Given the description of an element on the screen output the (x, y) to click on. 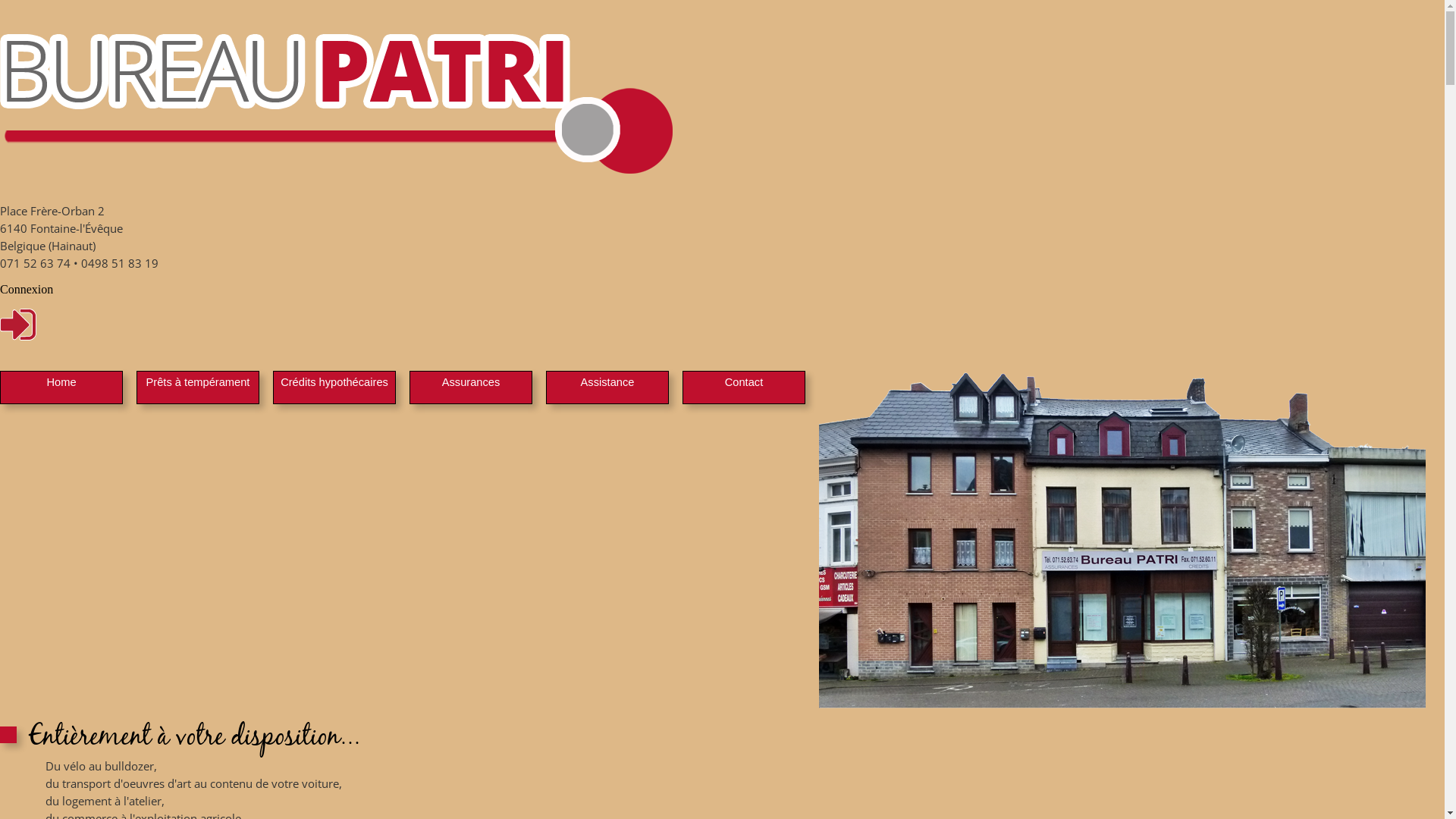
Assistance Element type: text (607, 382)
Contact Element type: text (743, 382)
Assurances Element type: text (471, 382)
Home Element type: text (60, 382)
